Given the description of an element on the screen output the (x, y) to click on. 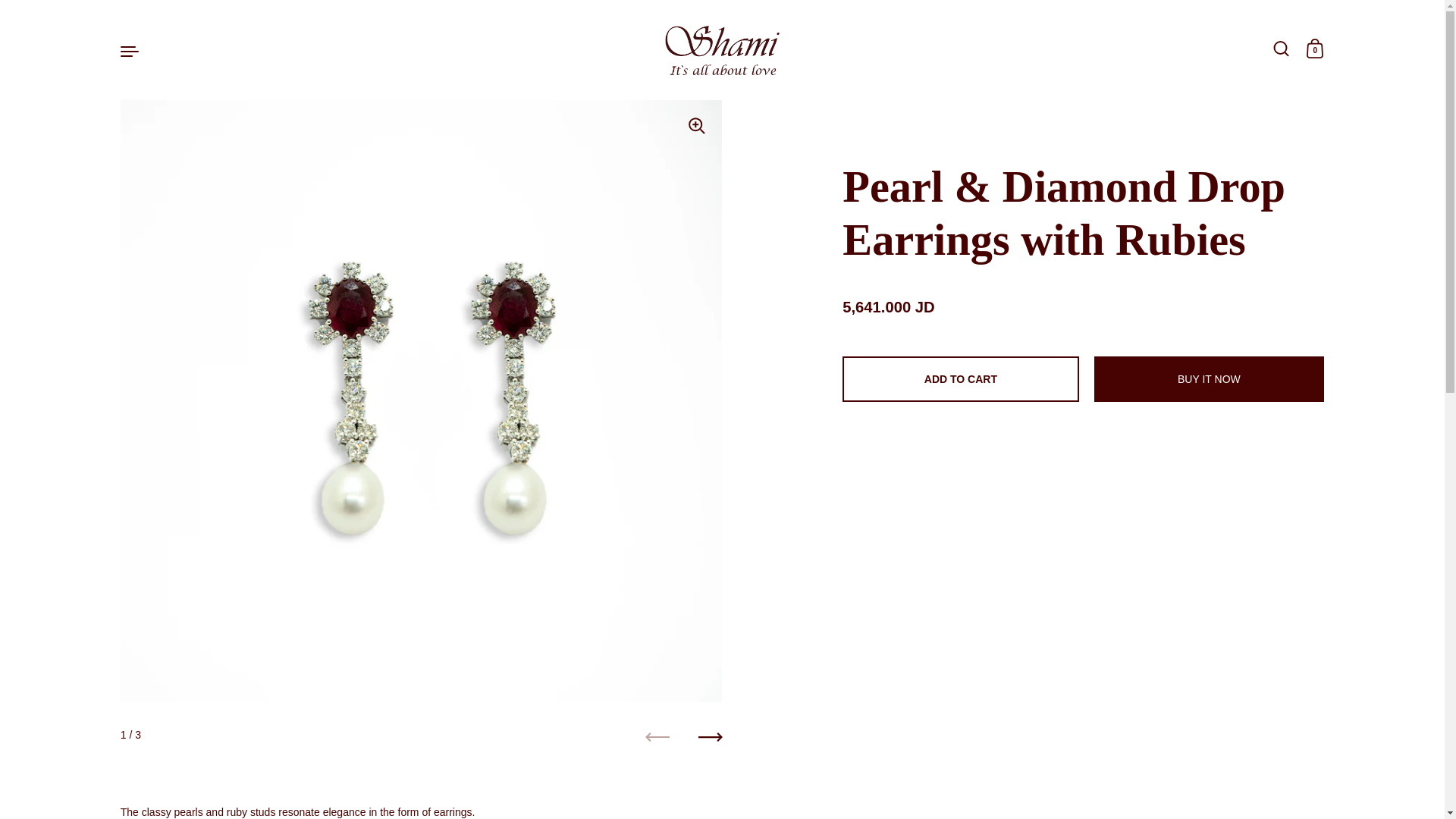
Shami Jewelry (721, 50)
Previous (656, 736)
BUY IT NOW (1208, 379)
0 (1315, 49)
ADD TO CART (960, 379)
Next (709, 736)
